Given the description of an element on the screen output the (x, y) to click on. 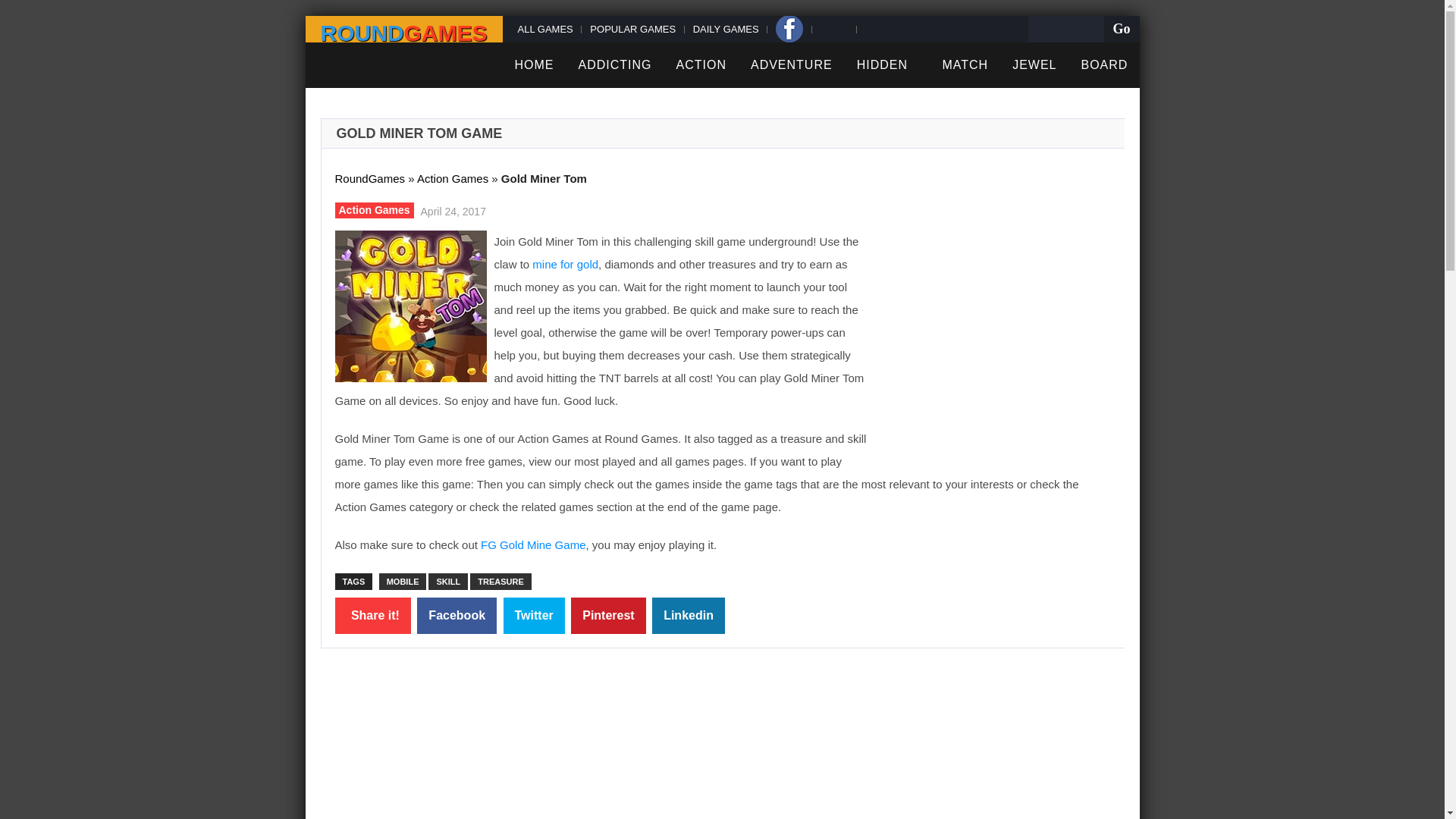
7:07 pm (451, 209)
ROUNDGAMES (403, 32)
Play Free Online Games No Downloads at RoundGames (403, 32)
Go (1120, 28)
DAILY GAMES (724, 29)
Our YouTube Channel (876, 28)
ADVENTURE (791, 64)
ALL GAMES (548, 29)
Follow us on Twitter (831, 28)
HIDDEN OBJECTS (887, 87)
